Given the description of an element on the screen output the (x, y) to click on. 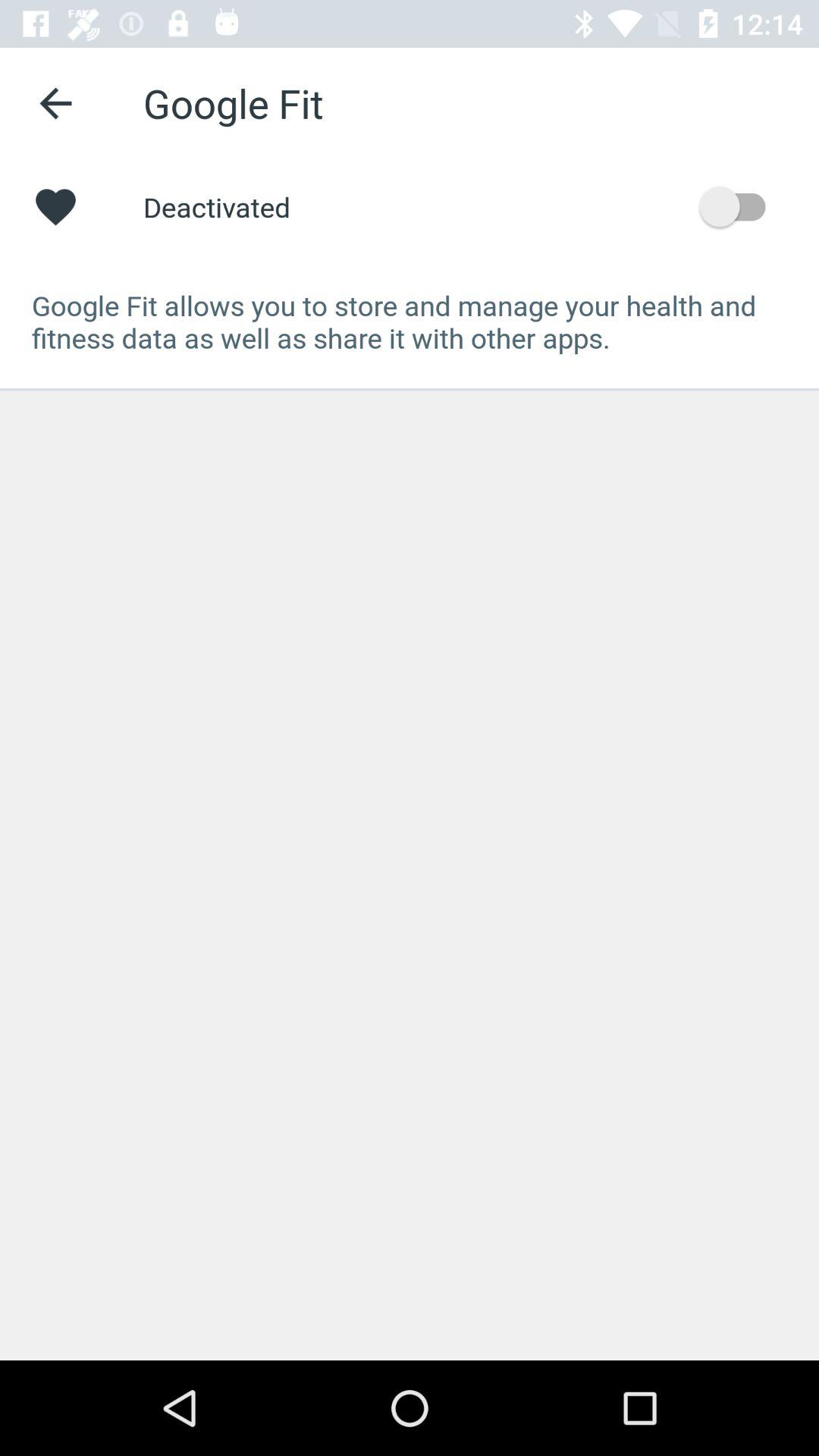
previous screen (55, 103)
